Given the description of an element on the screen output the (x, y) to click on. 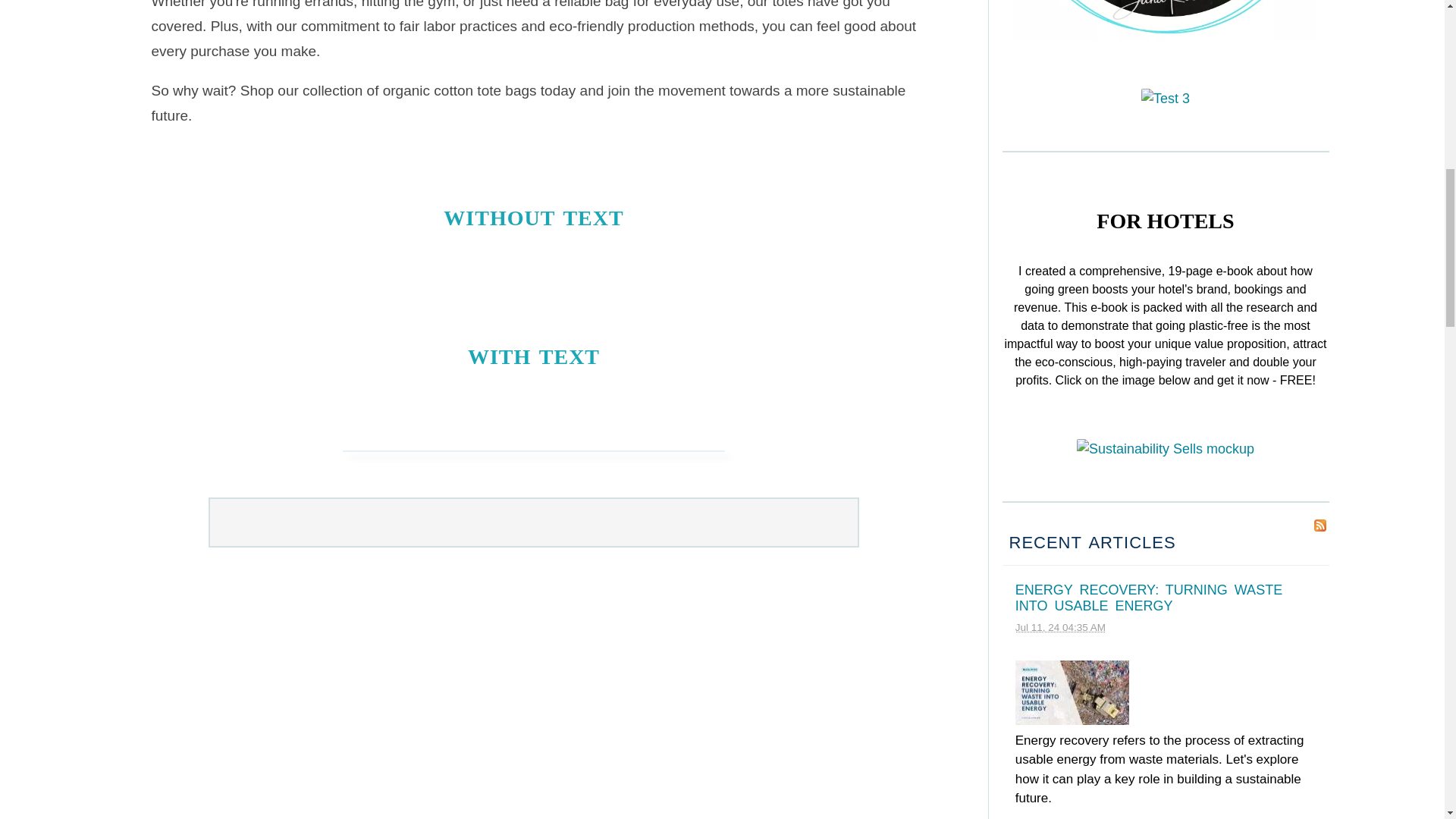
Test 3 (1165, 98)
2024-07-11T04:35:47-0400 (1059, 627)
Sustainability Sells mockup (1165, 448)
RECENT ARTICLES (1091, 542)
Go to Sustainability Sells (1165, 448)
